Given the description of an element on the screen output the (x, y) to click on. 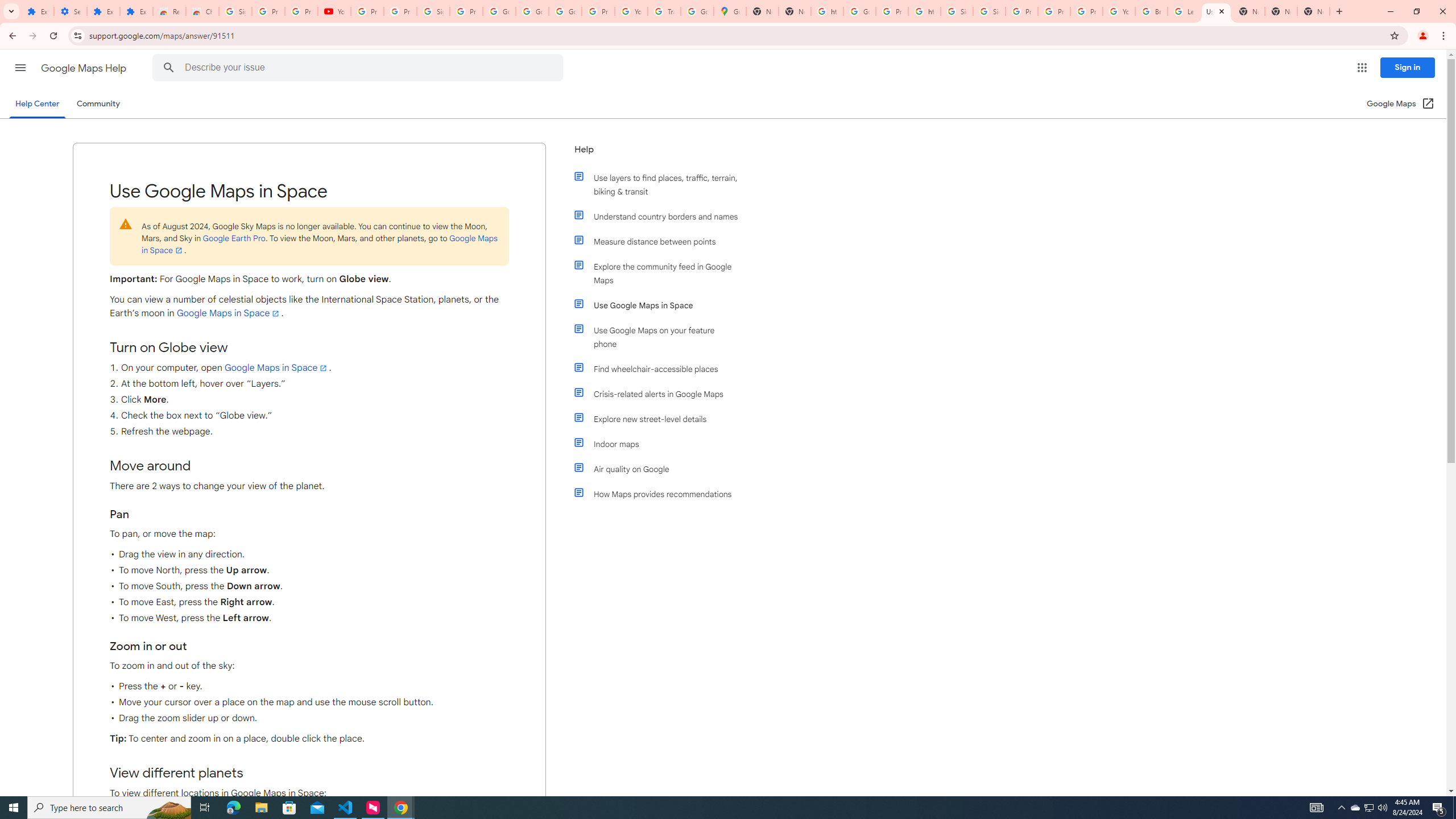
How Maps provides recommendations (661, 493)
Community (97, 103)
Google Account (499, 11)
Extensions (136, 11)
Find wheelchair-accessible places (661, 368)
Reviews: Helix Fruit Jump Arcade Game (169, 11)
YouTube (631, 11)
